Given the description of an element on the screen output the (x, y) to click on. 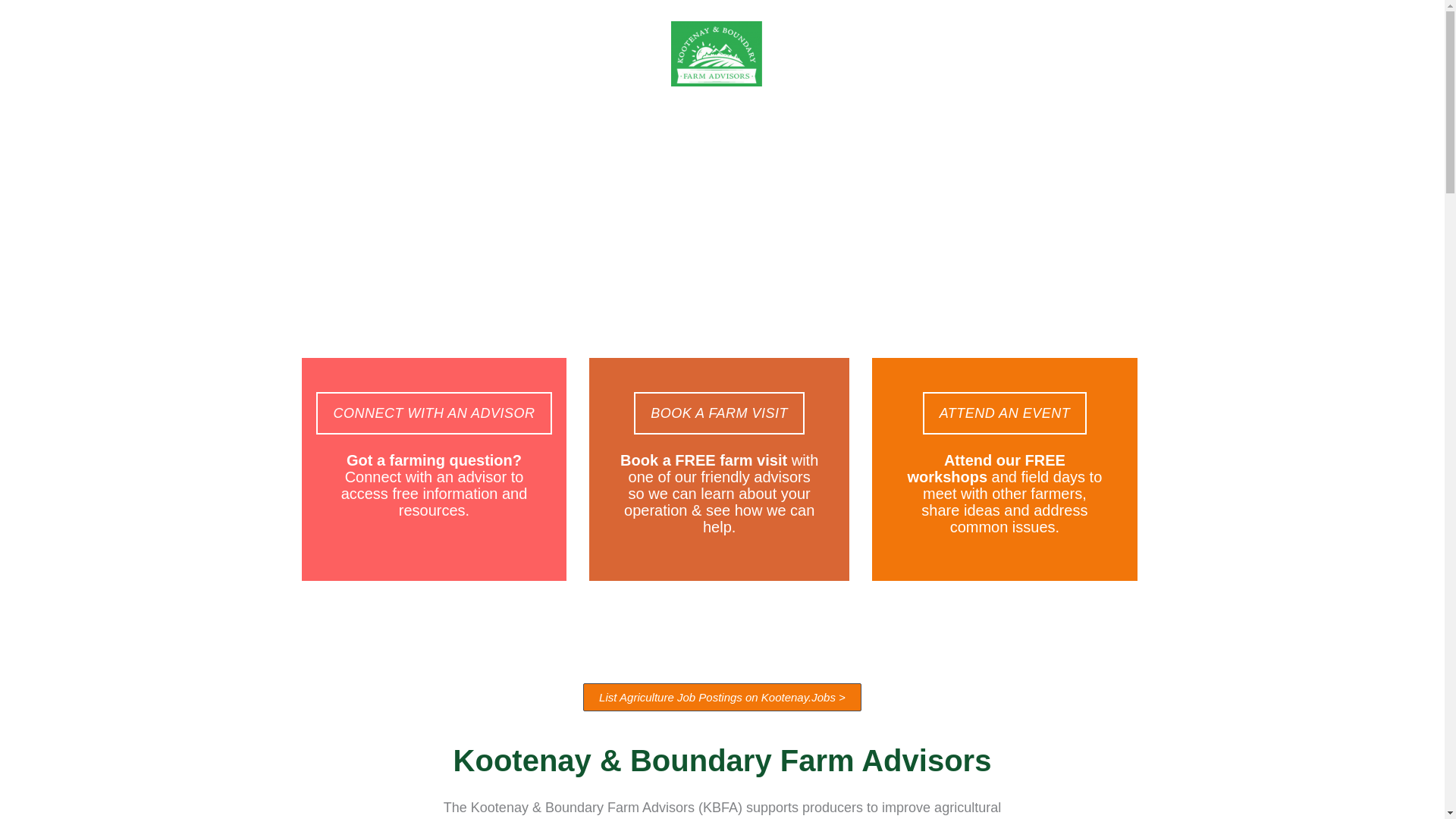
EVENTS (909, 128)
TEAM (478, 128)
778-771-5851 (1013, 128)
RESOURCES (708, 128)
NEWS (821, 128)
SERVICES (580, 128)
ABOUT (387, 128)
